Given the description of an element on the screen output the (x, y) to click on. 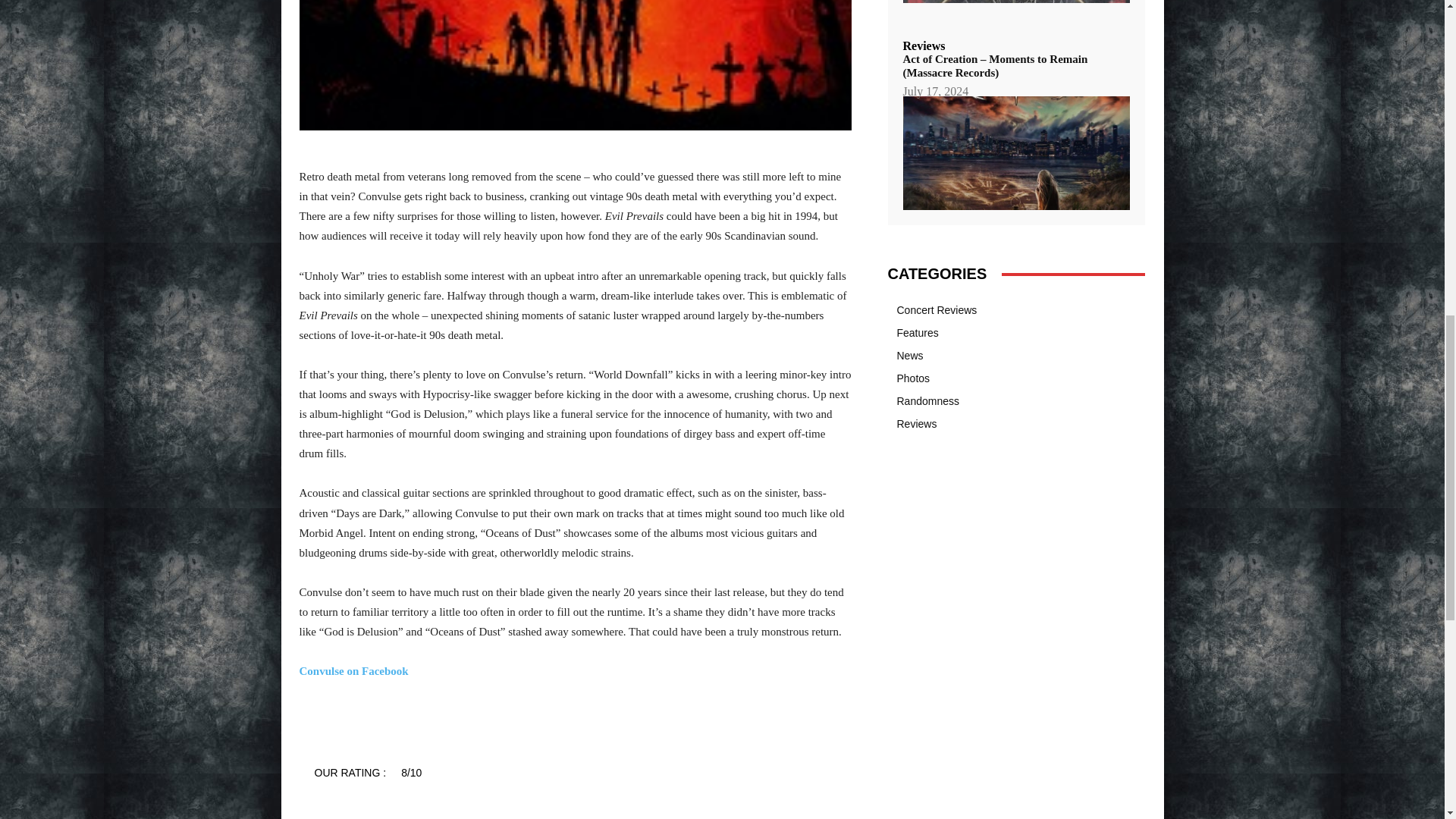
convulse-evilprevails (574, 65)
Convulse on Facebook (352, 671)
